Given the description of an element on the screen output the (x, y) to click on. 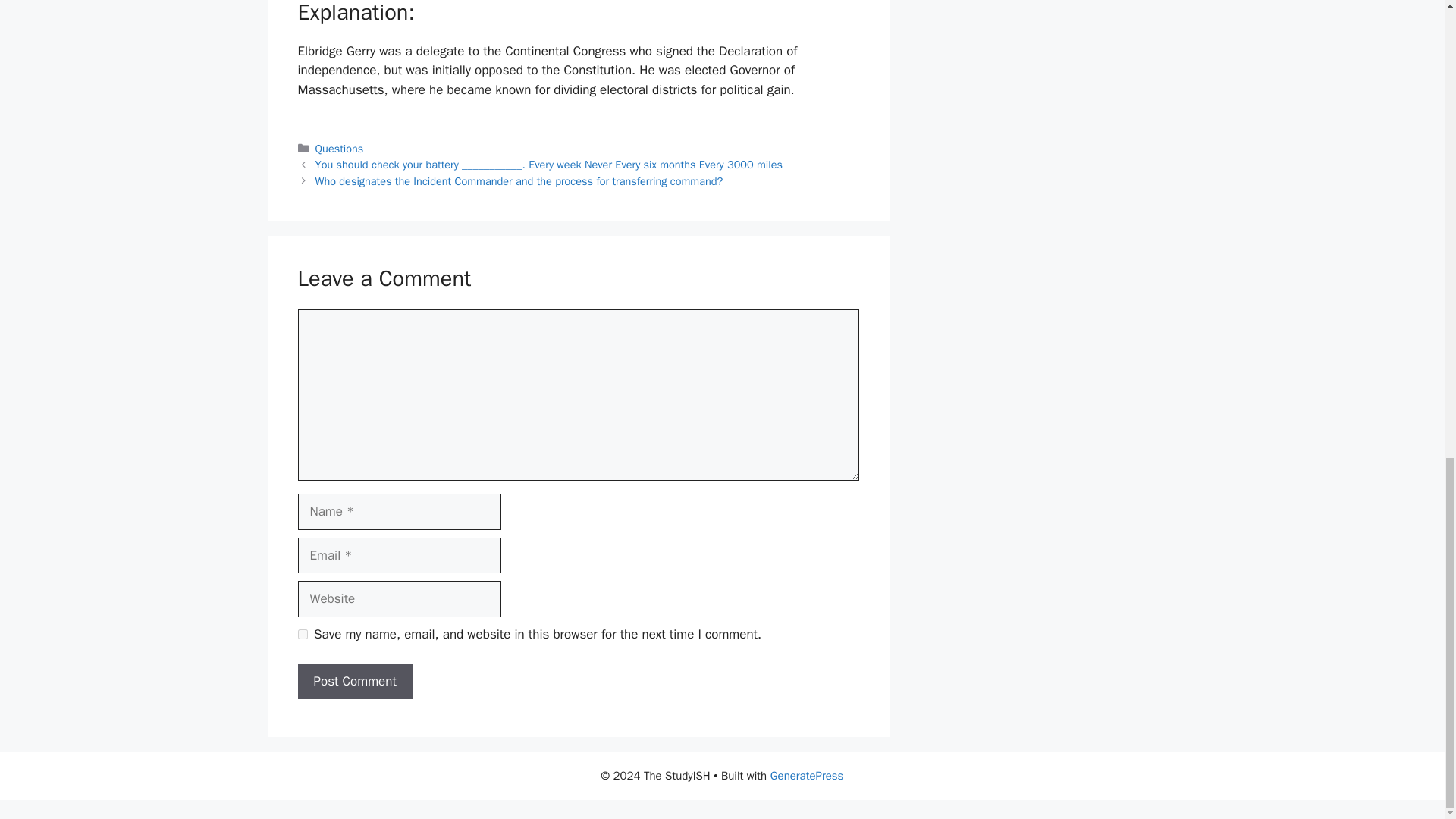
GeneratePress (807, 775)
Questions (339, 148)
Post Comment (354, 681)
yes (302, 634)
Post Comment (354, 681)
